Given the description of an element on the screen output the (x, y) to click on. 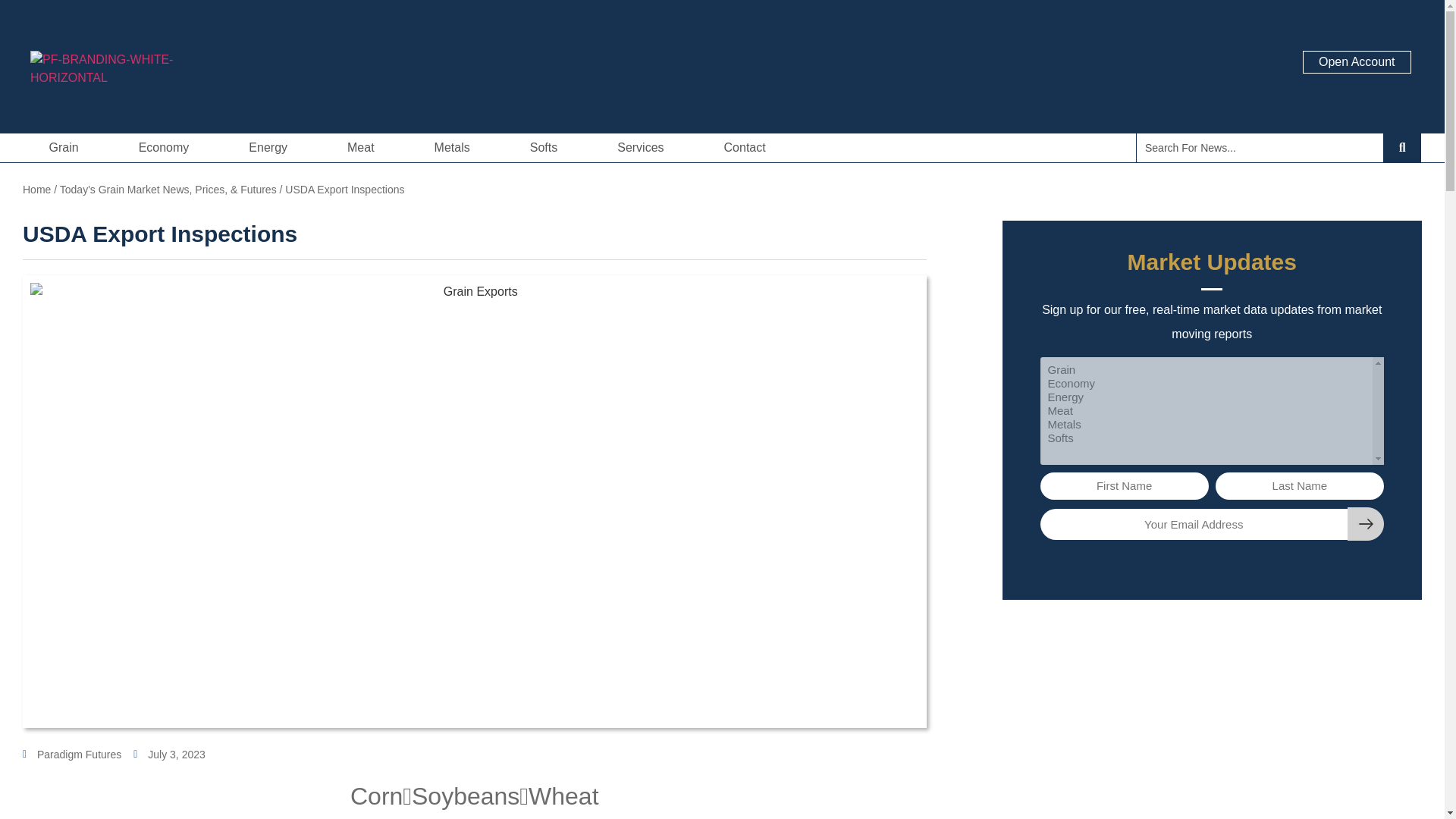
Meat (365, 147)
Economy (167, 147)
Grain (67, 147)
Paradigm Futures (71, 754)
Softs (547, 147)
Metals (455, 147)
Energy (271, 147)
PF-BRANDING-WHITE-HORIZONTAL (139, 81)
Contact (744, 147)
Search (1260, 147)
Home (36, 189)
Open Account (1356, 61)
Services (644, 147)
